Given the description of an element on the screen output the (x, y) to click on. 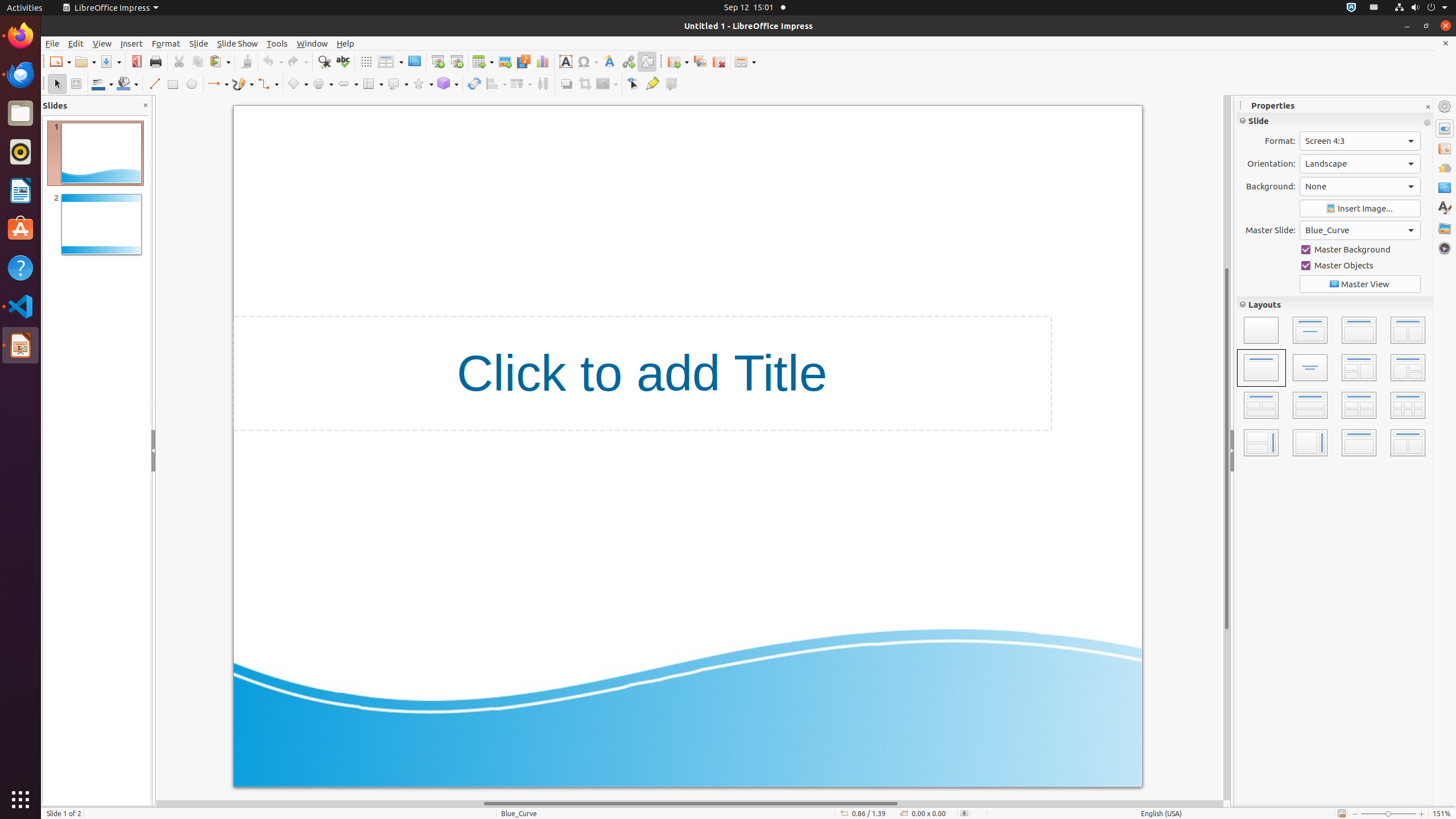
Underline Element type: push-button (1278, 166)
New Slide Element type: push-button (677, 61)
Ubuntu Software Element type: push-button (20, 229)
Redo Element type: push-button (296, 61)
Delete Slide Element type: push-button (718, 61)
